Given the description of an element on the screen output the (x, y) to click on. 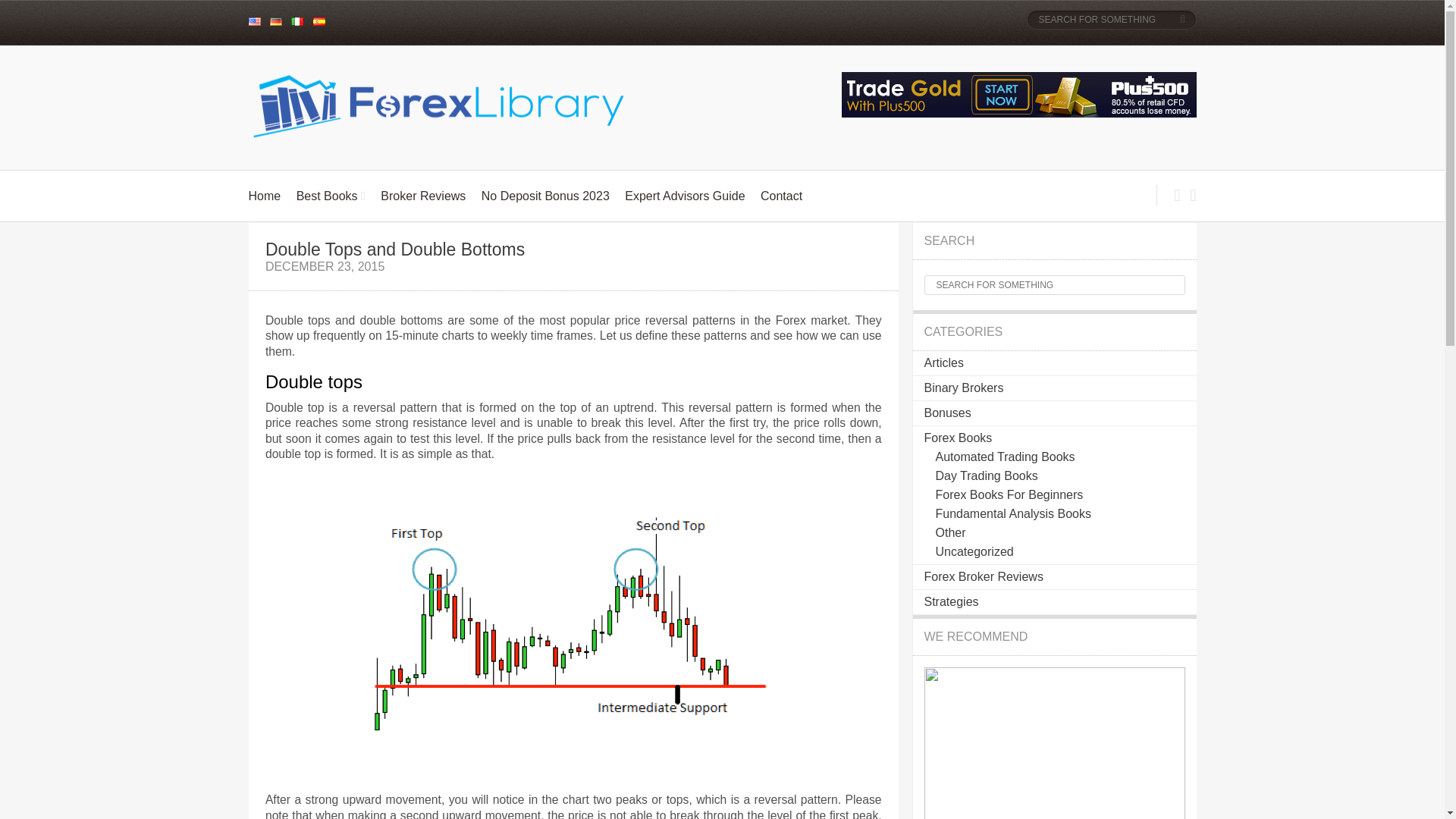
Italiano (296, 21)
Deutsch (275, 21)
Best Books (327, 195)
Uncategorized (974, 551)
Forex Broker Reviews (982, 576)
Day Trading Books (987, 475)
Contact (781, 195)
English (254, 21)
Binary Brokers (963, 387)
Automated Trading Books (1005, 456)
Bonuses (947, 412)
Strategies (950, 601)
Home (264, 195)
Broker Reviews (422, 195)
Articles (942, 362)
